Given the description of an element on the screen output the (x, y) to click on. 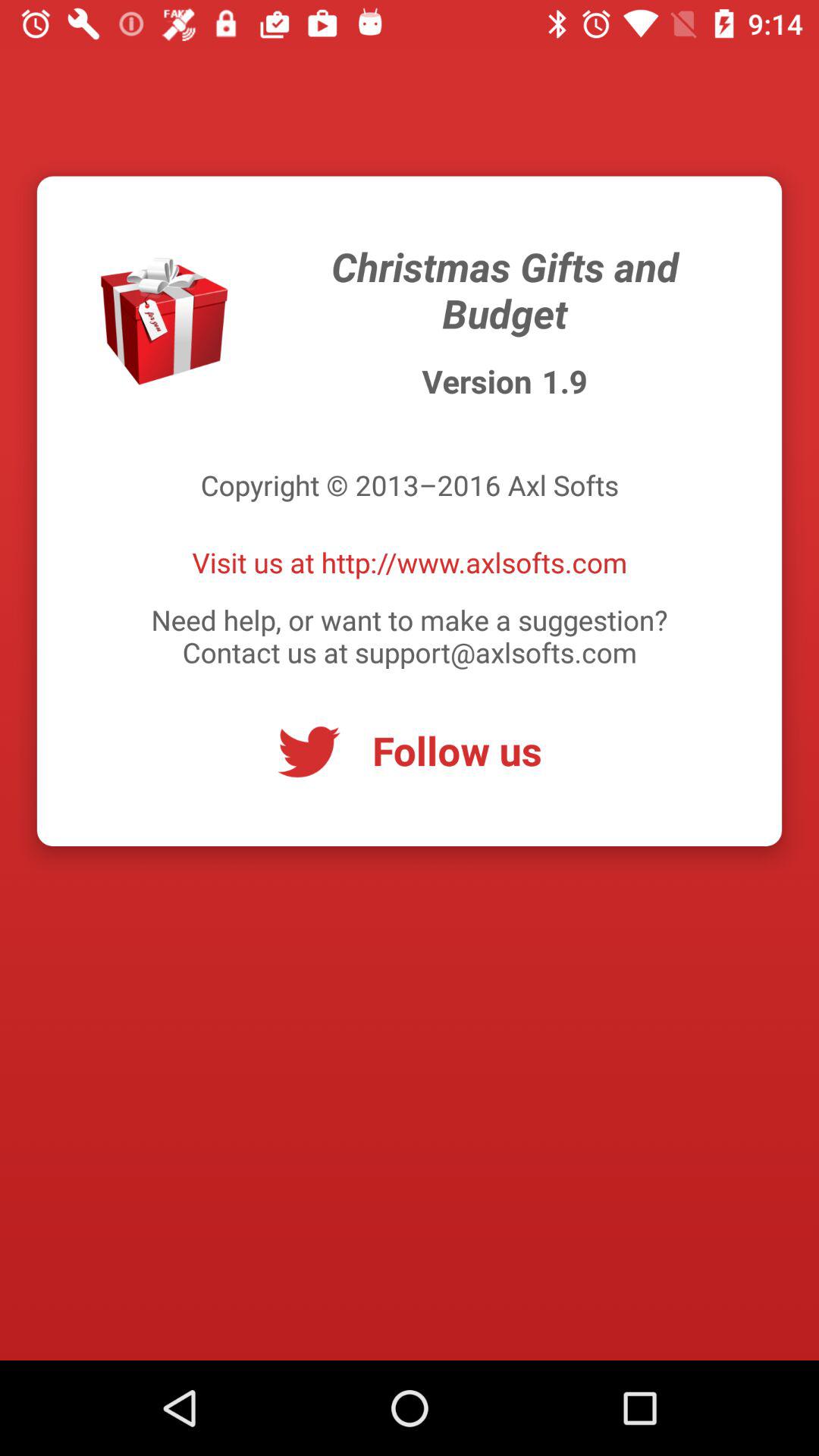
launch the need help or icon (409, 636)
